Given the description of an element on the screen output the (x, y) to click on. 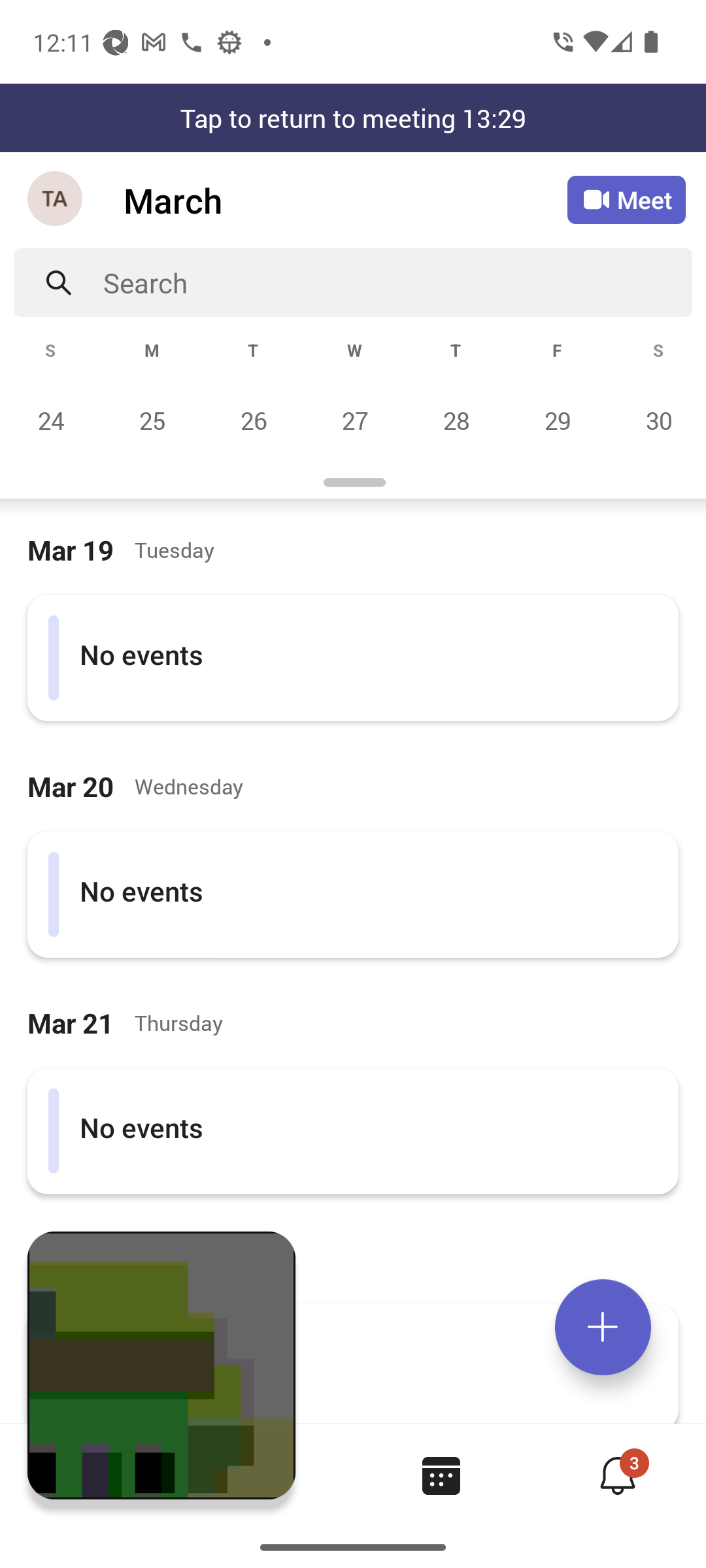
Tap to return to meeting 13:29 (353, 117)
Navigation (56, 199)
Meet Meet now or join with an ID (626, 199)
March March Calendar Agenda View (345, 199)
Search (397, 281)
Sunday, March 24 24 (50, 420)
Monday, March 25 25 (151, 420)
Tuesday, March 26 26 (253, 420)
Wednesday, March 27 27 (354, 420)
Thursday, March 28 28 (455, 420)
Friday, March 29 29 (556, 420)
Saturday, March 30 30 (656, 420)
Expand meetings menu (602, 1327)
Calendar tab, 3 of 4 (441, 1475)
Activity tab,4 of 4, not selected, 3 new 3 (617, 1475)
